Given the description of an element on the screen output the (x, y) to click on. 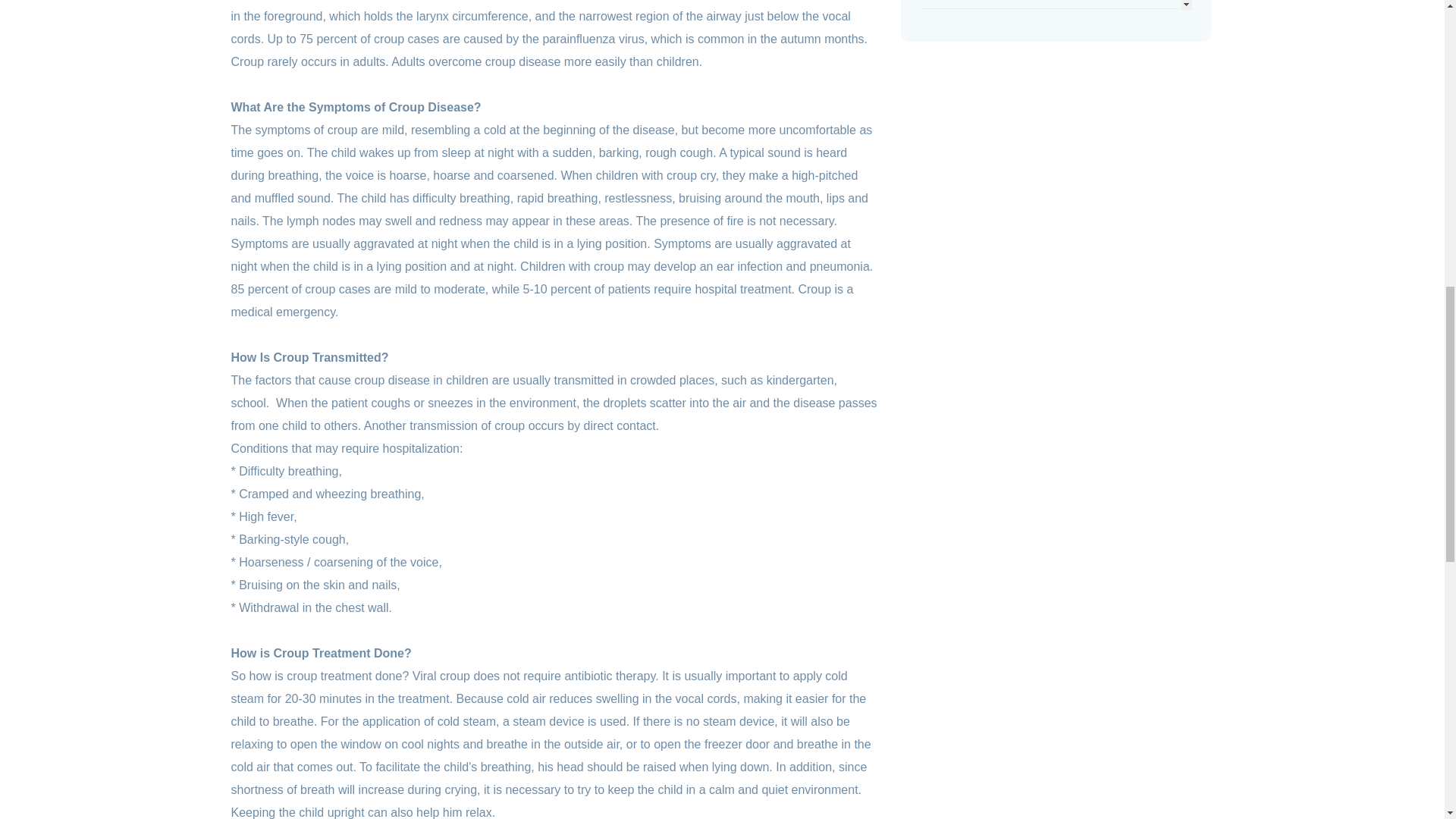
Who can't donate their kidneys? (1004, 26)
Why do babies cry? (972, 0)
Who can't donate their kidneys? (1004, 26)
Why do babies cry? (972, 0)
